Given the description of an element on the screen output the (x, y) to click on. 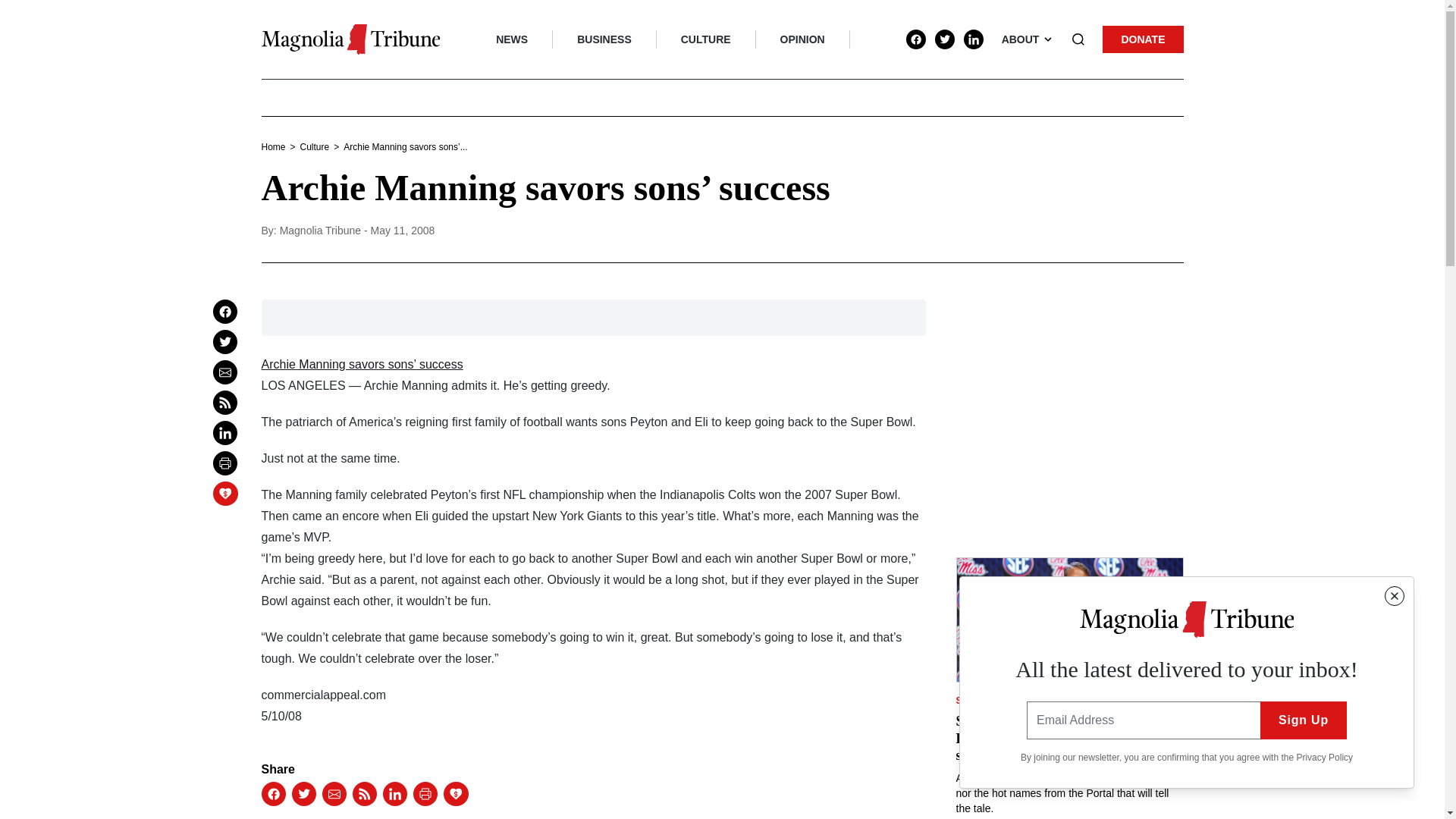
ABOUT (1027, 39)
Home (272, 146)
OPINION (801, 39)
DONATE (1142, 38)
CULTURE (705, 39)
BUSINESS (603, 39)
Archie Manning savors sons' success (361, 364)
Culture (314, 146)
Sign Up (1303, 720)
NEWS (523, 39)
